Given the description of an element on the screen output the (x, y) to click on. 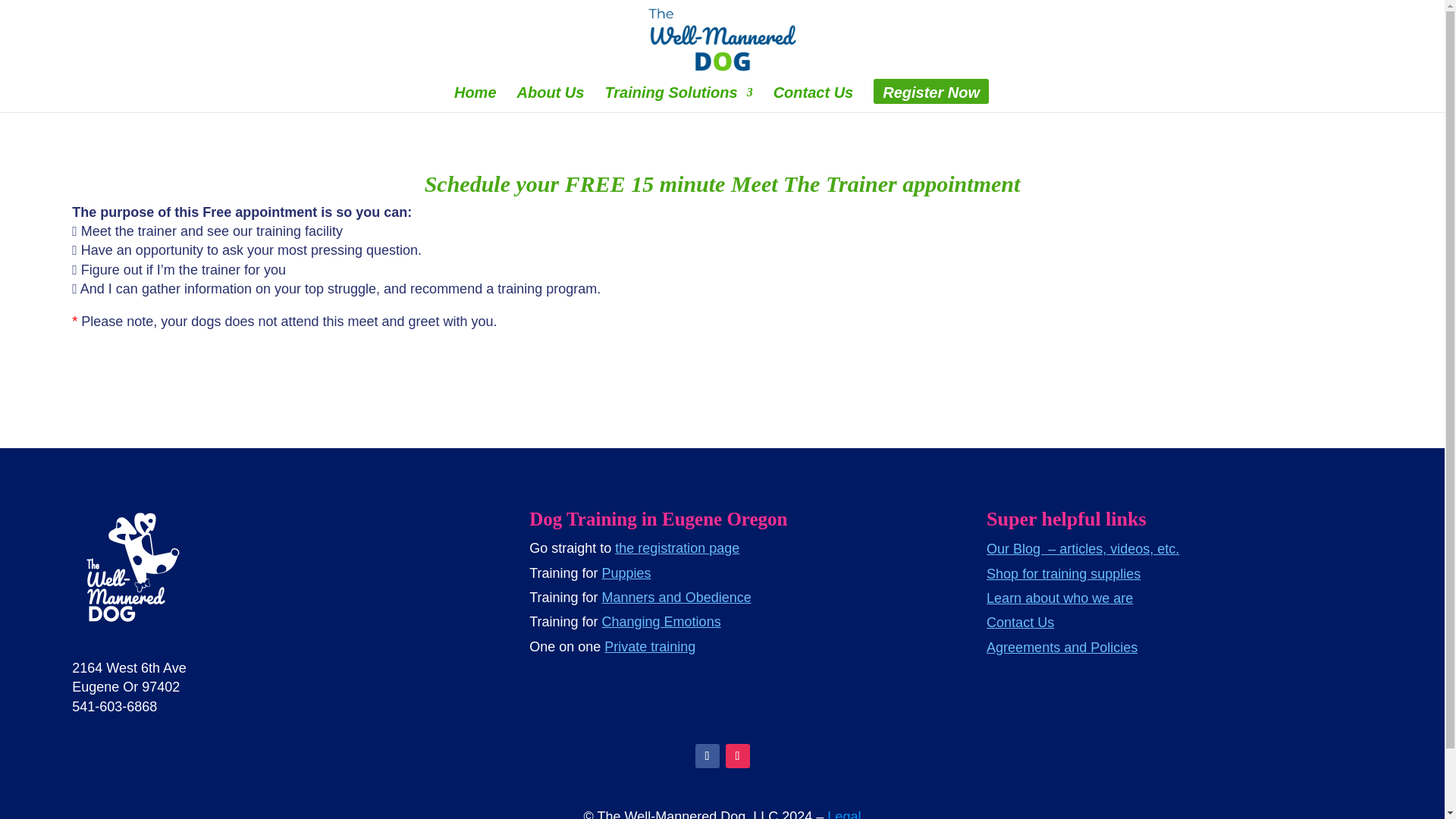
the (625, 548)
Follow on Facebook (706, 755)
registration page (688, 548)
Follow on Instagram (737, 755)
Home (475, 99)
Changing Emotions (661, 621)
Register Now (930, 99)
Learn about who we are (1059, 598)
Agreements and Policies (1062, 647)
About Us (550, 99)
Obedience (718, 597)
Contact Us (813, 99)
Puppies (626, 572)
Legal (843, 814)
Manners and  (643, 597)
